Given the description of an element on the screen output the (x, y) to click on. 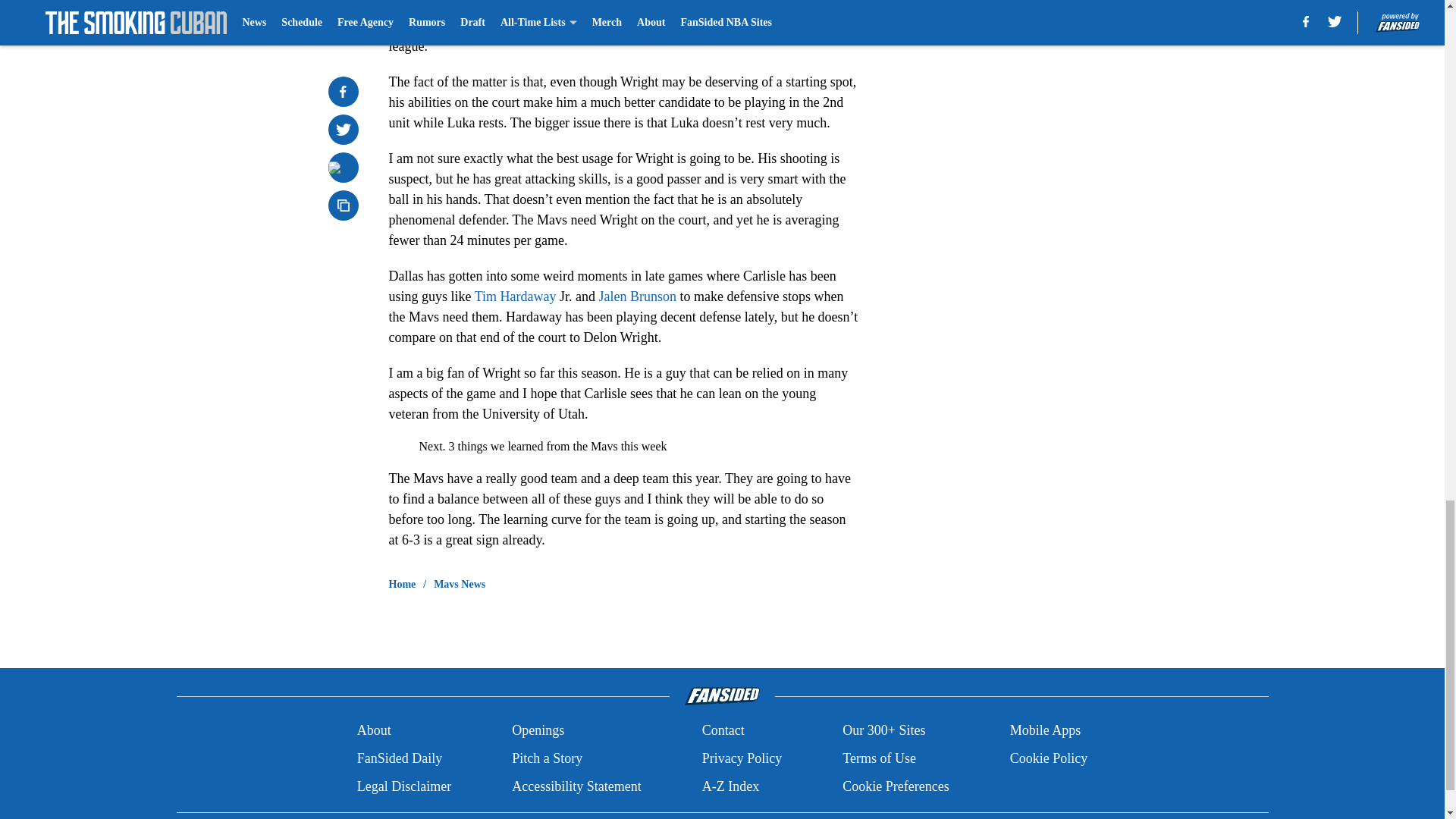
Luka Doncic (496, 25)
Home (401, 584)
FanSided Daily (399, 758)
Mavs News (458, 584)
Openings (538, 730)
Jalen Brunson (637, 296)
Tim Hardaway (515, 296)
Contact (722, 730)
About (373, 730)
Mobile Apps (1045, 730)
